Given the description of an element on the screen output the (x, y) to click on. 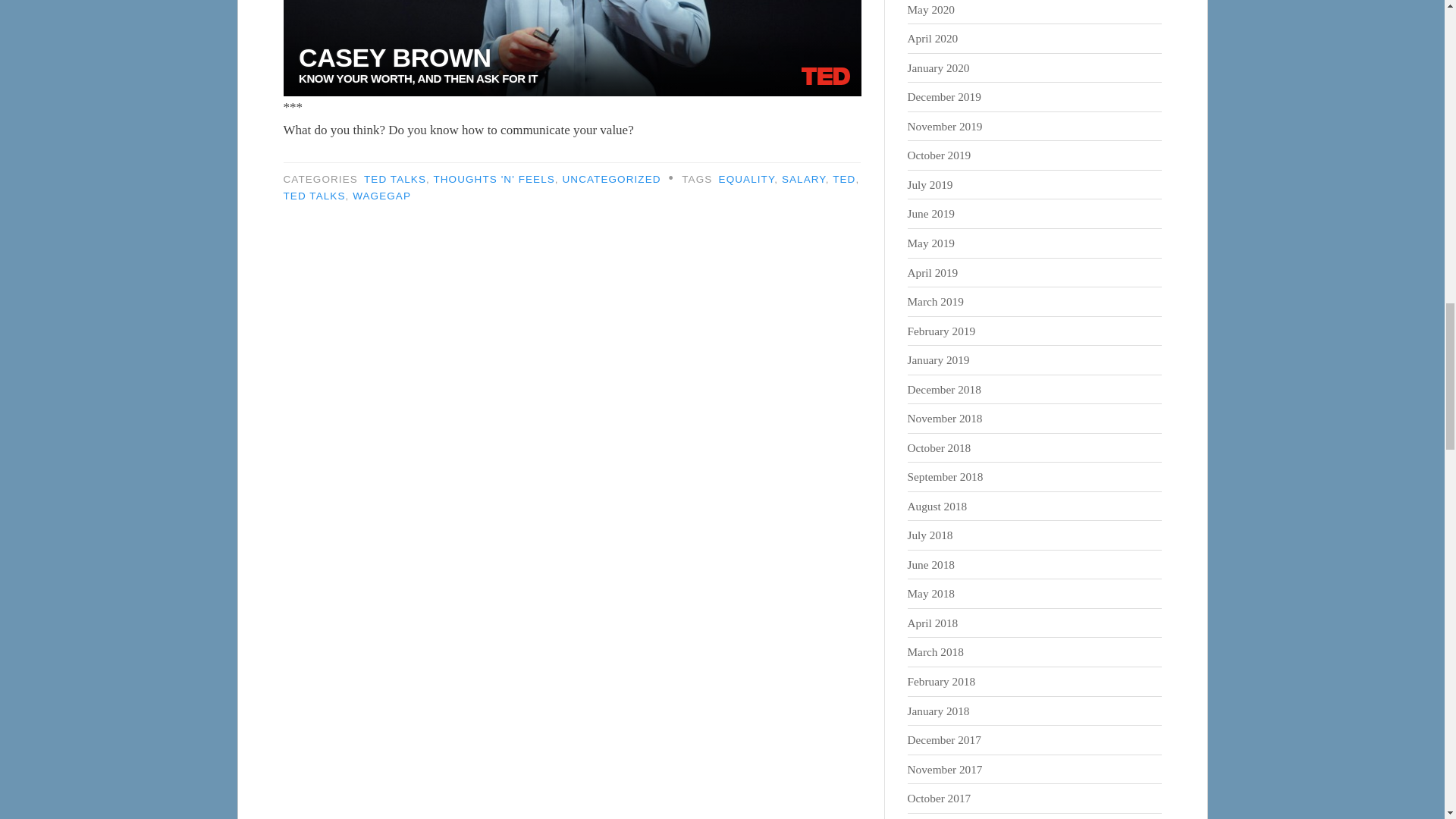
THOUGHTS 'N' FEELS (493, 179)
WAGEGAP (381, 195)
TED TALKS (395, 179)
EQUALITY (746, 179)
TED (844, 179)
TED TALKS (314, 195)
UNCATEGORIZED (611, 179)
SALARY (803, 179)
